Given the description of an element on the screen output the (x, y) to click on. 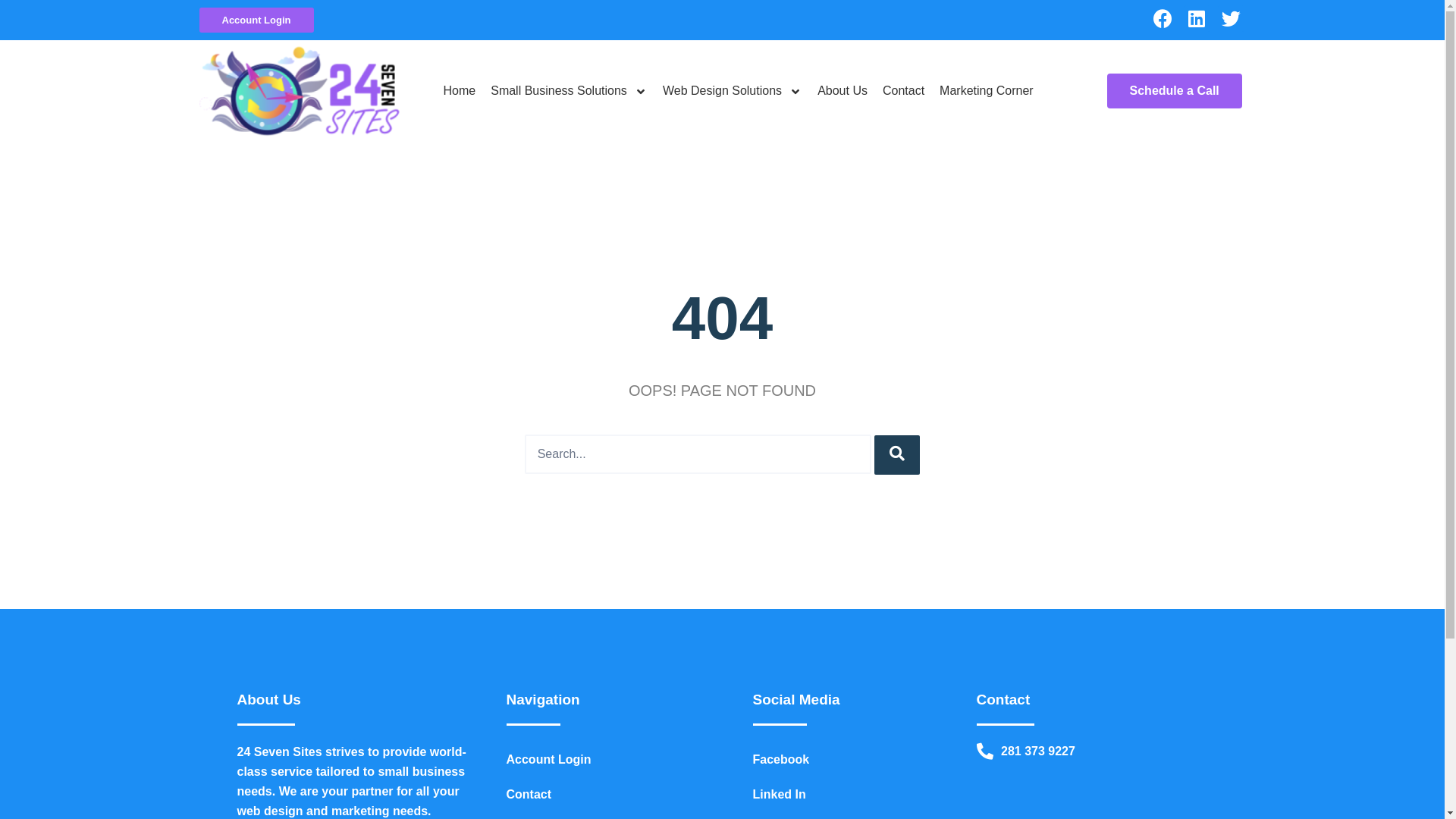
Contact Element type: text (903, 90)
Schedule a Call Element type: text (1174, 90)
Facebook Element type: text (860, 759)
Web Design Solutions Element type: text (732, 90)
Marketing Corner Element type: text (986, 90)
About Us Element type: text (842, 90)
Small Business Solutions Element type: text (568, 90)
Home Element type: text (459, 90)
Contact Element type: text (614, 794)
Account Login Element type: text (255, 19)
Account Login Element type: text (614, 759)
Linked In Element type: text (860, 794)
